Given the description of an element on the screen output the (x, y) to click on. 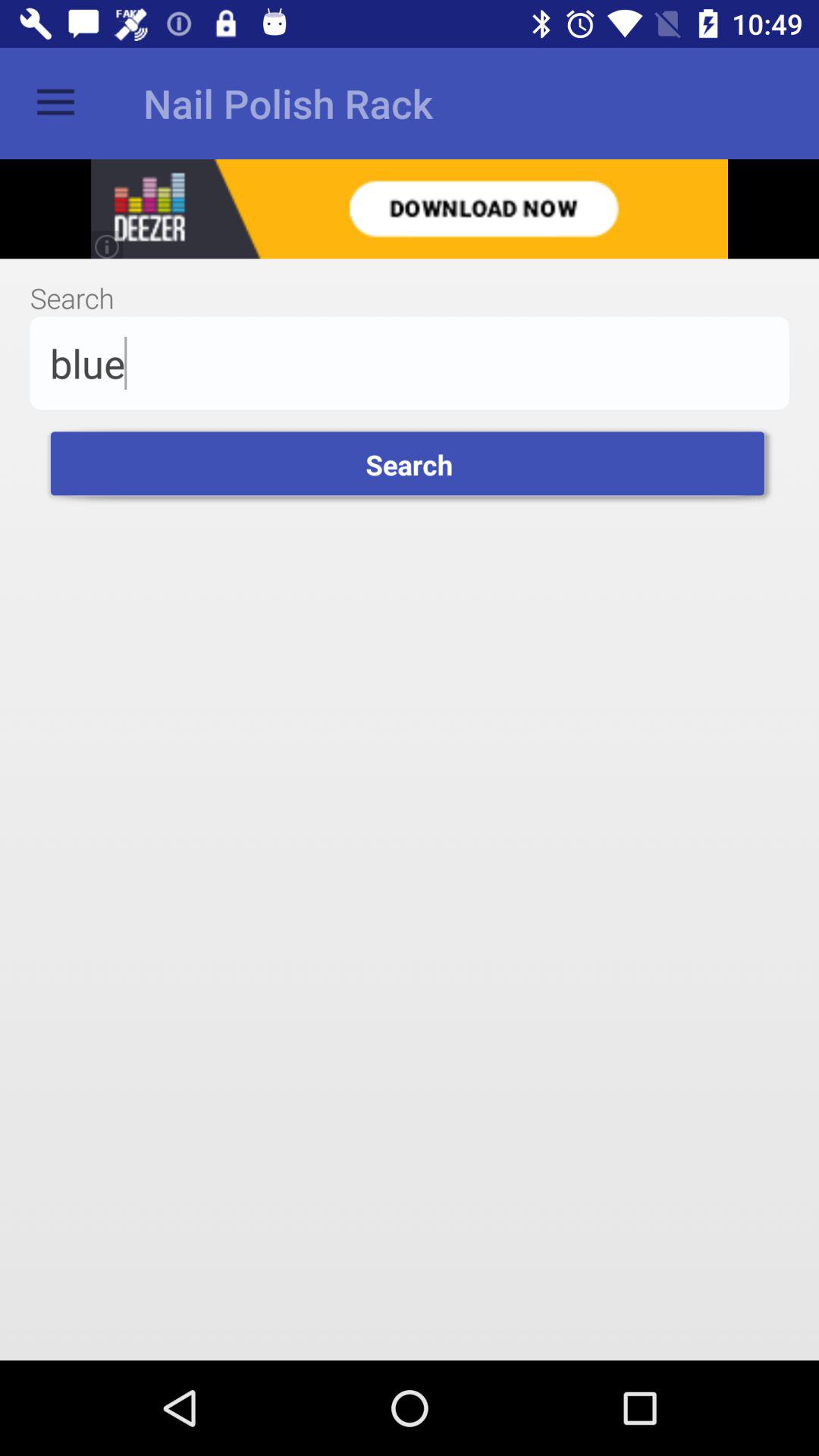
download option (409, 208)
